Given the description of an element on the screen output the (x, y) to click on. 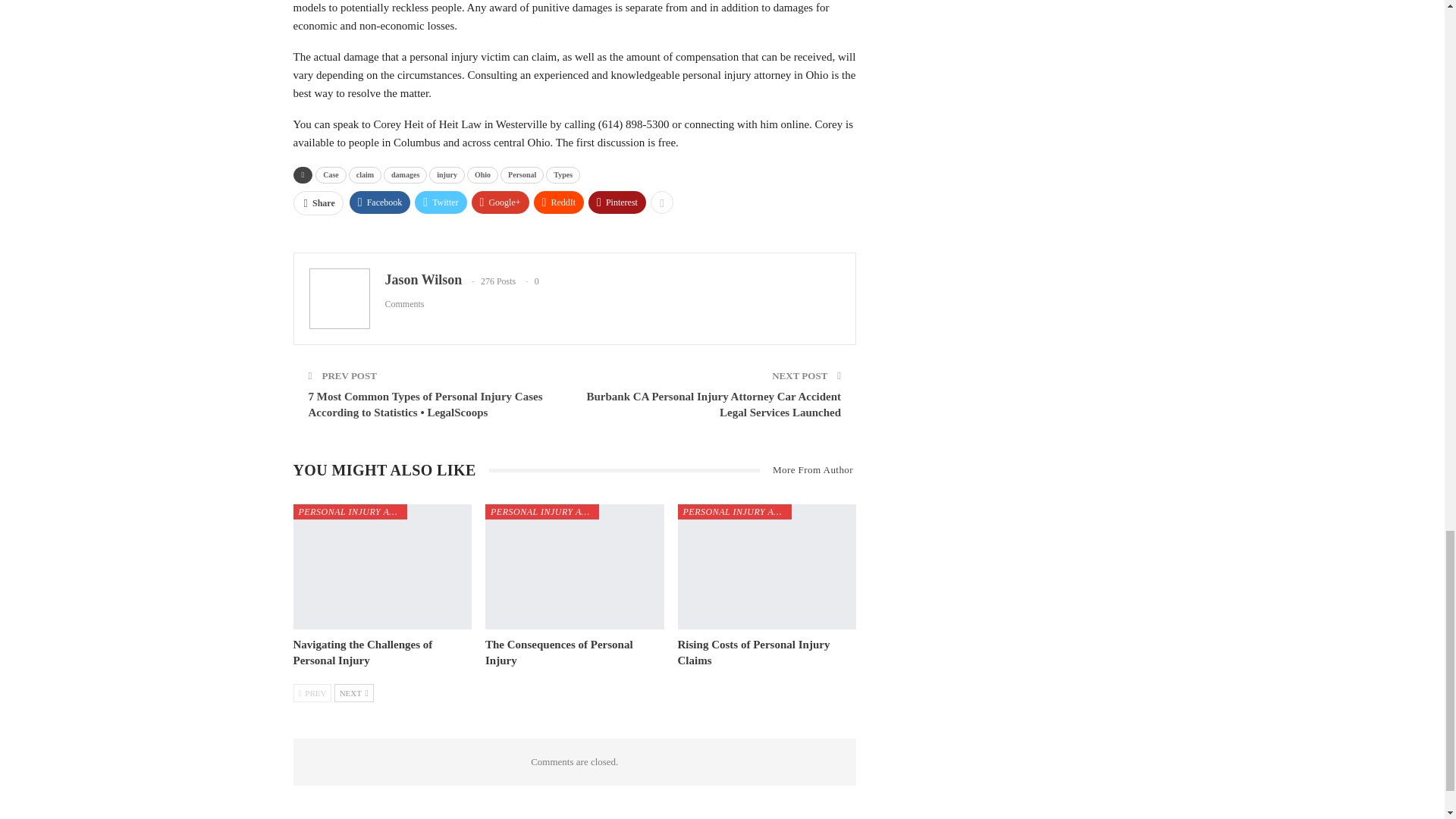
Next (354, 692)
Case (330, 175)
Ohio (482, 175)
injury (446, 175)
Personal (521, 175)
The Consequences of Personal Injury (558, 652)
The Consequences of Personal Injury (573, 566)
Facebook (379, 201)
Rising Costs of Personal Injury Claims (753, 652)
Rising Costs of Personal Injury Claims (767, 566)
